Given the description of an element on the screen output the (x, y) to click on. 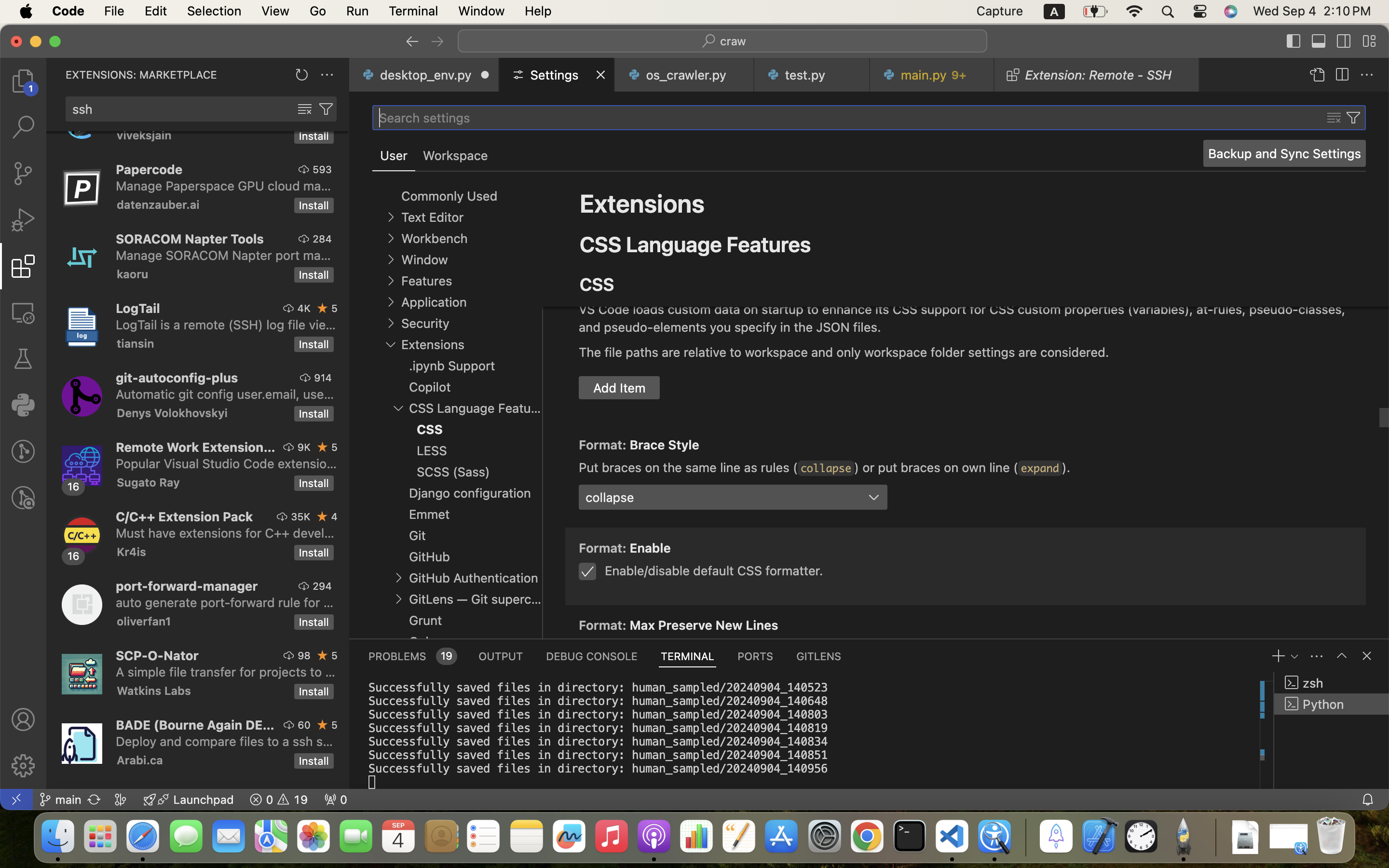
Arabi.ca Element type: AXStaticText (139, 759)
1  Element type: AXRadioButton (23, 266)
Text Editor Element type: AXStaticText (432, 217)
GitLens — Git supercharged Element type: AXStaticText (475, 599)
.ipynb Support Element type: AXStaticText (451, 365)
